Given the description of an element on the screen output the (x, y) to click on. 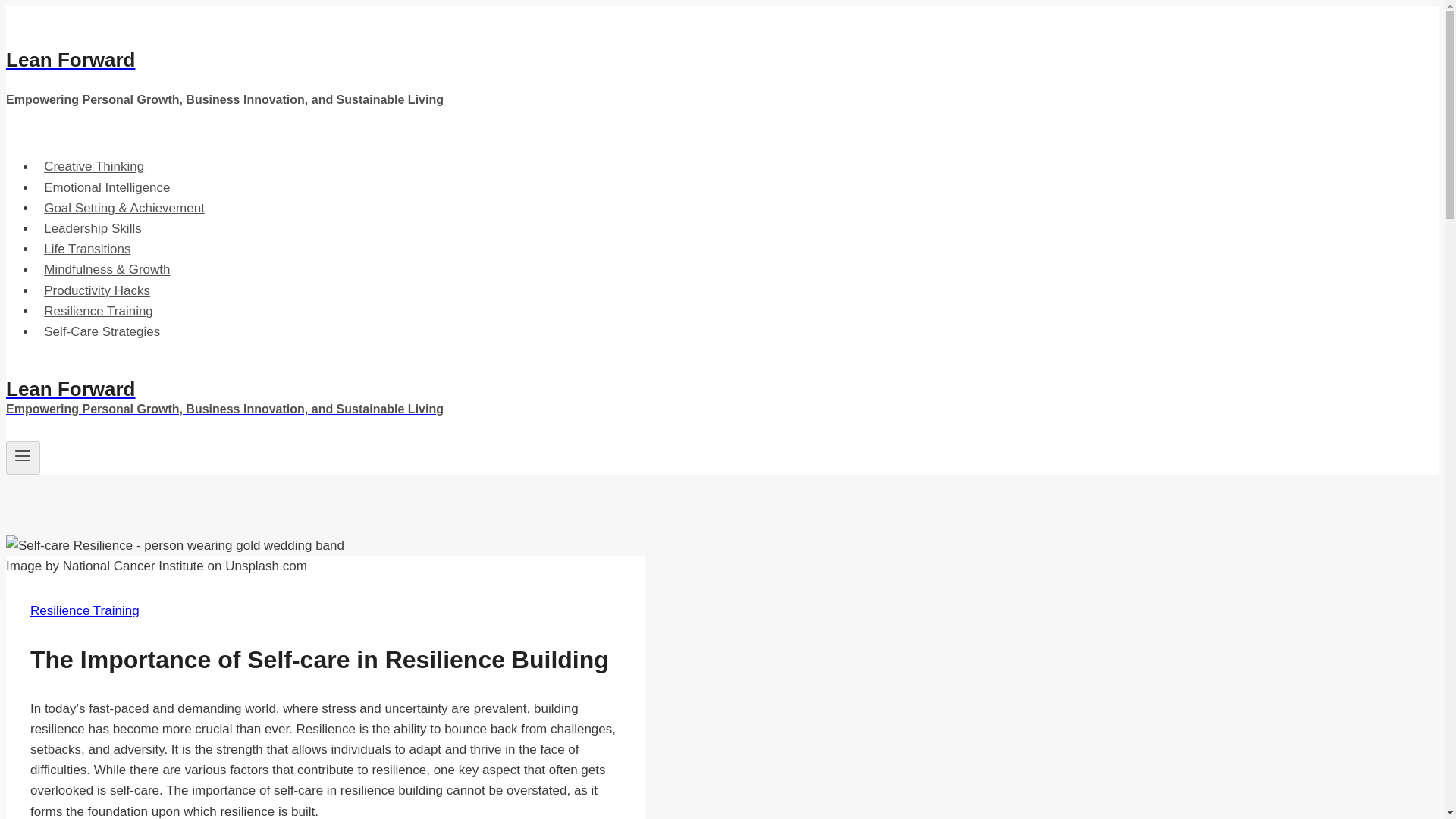
Leadership Skills (92, 228)
Resilience Training (98, 310)
Toggle Menu (22, 455)
Life Transitions (87, 248)
Resilience Training (84, 610)
Productivity Hacks (96, 290)
Toggle Menu (22, 458)
Creative Thinking (93, 165)
Emotional Intelligence (106, 187)
Self-Care Strategies (101, 331)
